Given the description of an element on the screen output the (x, y) to click on. 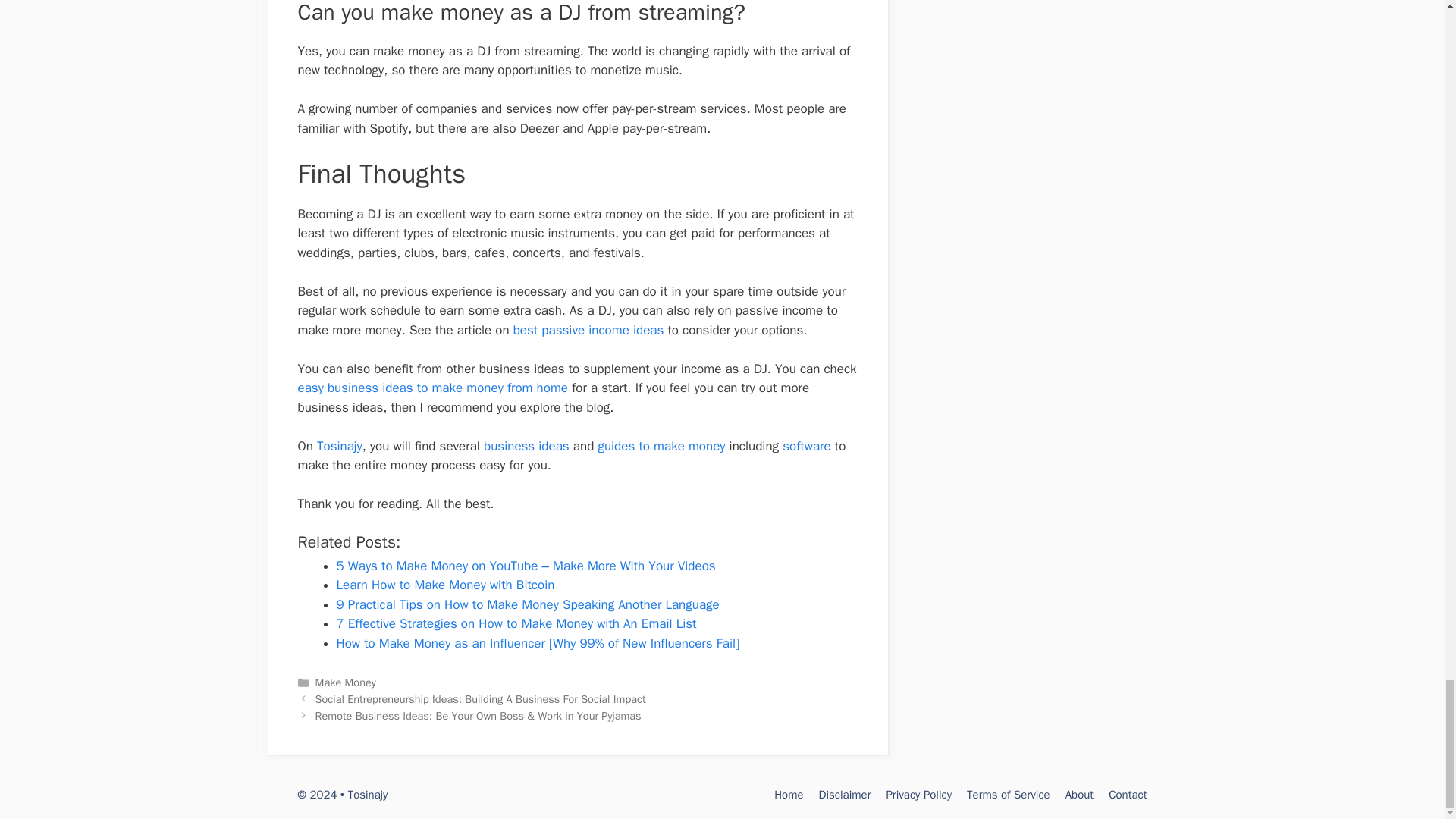
best passive income ideas (588, 330)
Learn How to Make Money with Bitcoin (445, 584)
easy business ideas to make money from home (432, 387)
business ideas (526, 446)
Tosinajy (339, 446)
guides to make money (660, 446)
